Given the description of an element on the screen output the (x, y) to click on. 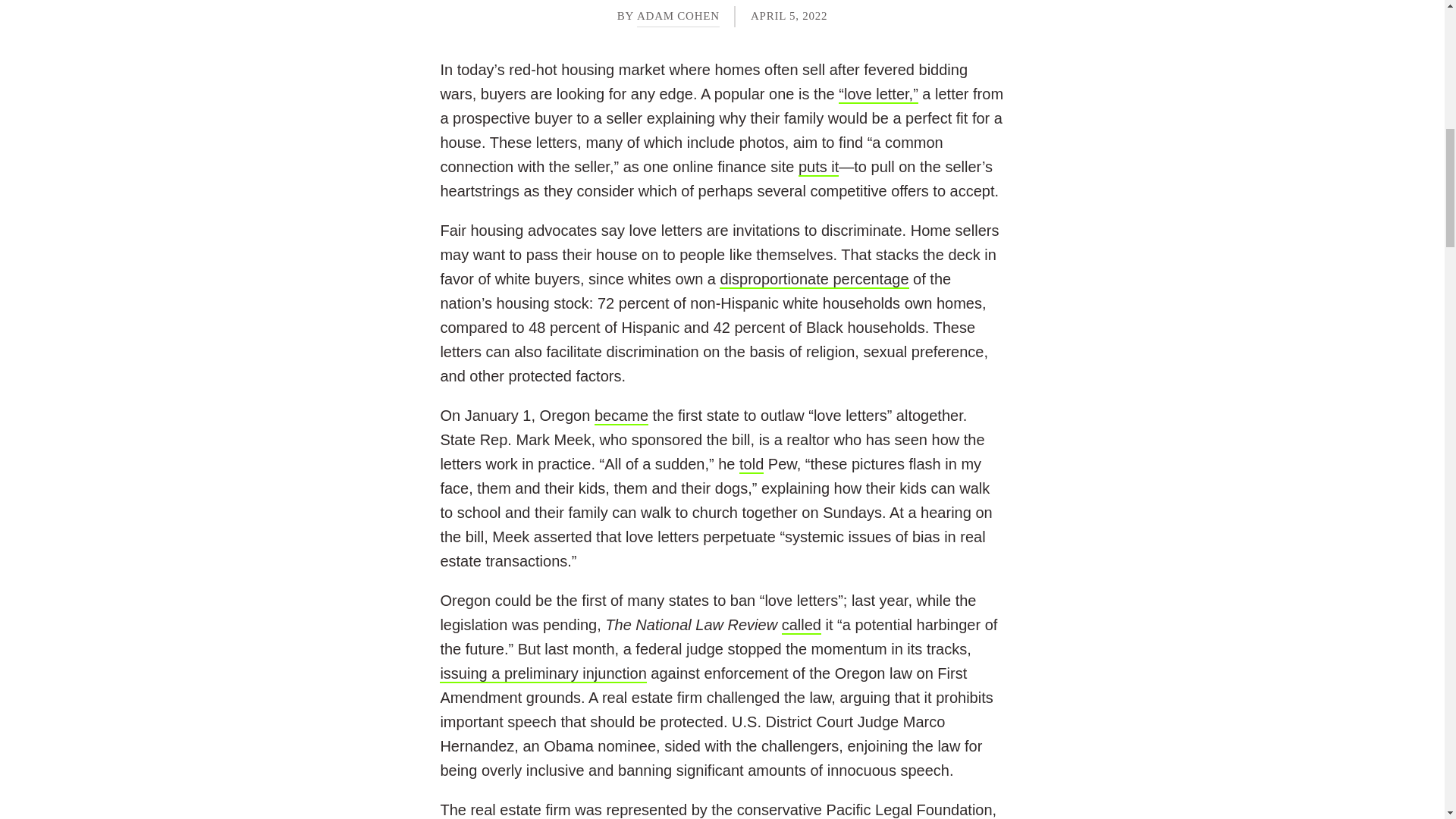
called (801, 625)
issuing a preliminary injunction (542, 674)
told (750, 464)
disproportionate percentage (813, 280)
ADAM COHEN (678, 15)
puts it (817, 167)
became (620, 416)
